Given the description of an element on the screen output the (x, y) to click on. 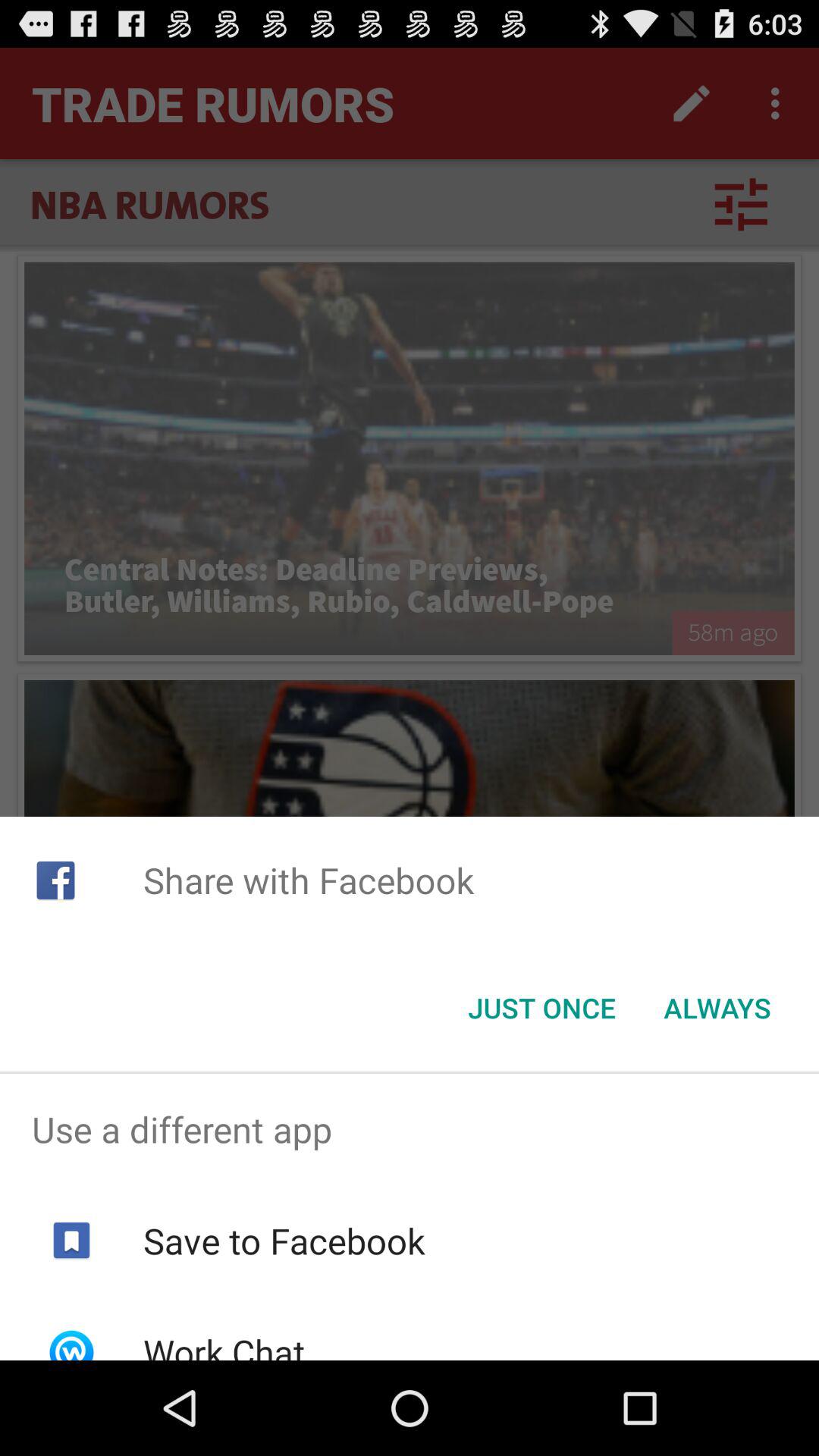
open the item above work chat icon (284, 1240)
